Given the description of an element on the screen output the (x, y) to click on. 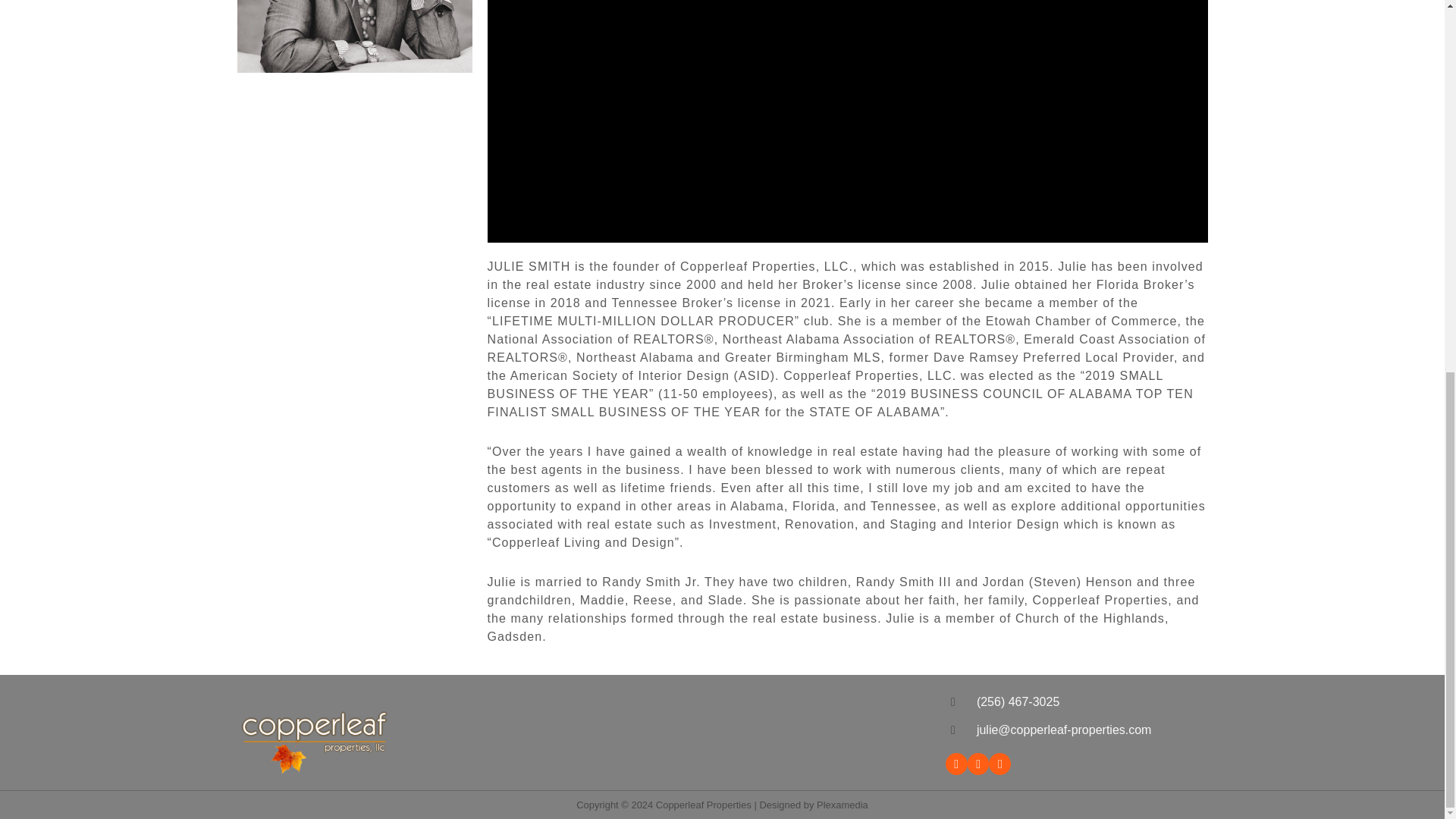
Youtube (999, 763)
Facebook-f (956, 763)
Instagram (979, 763)
